Given the description of an element on the screen output the (x, y) to click on. 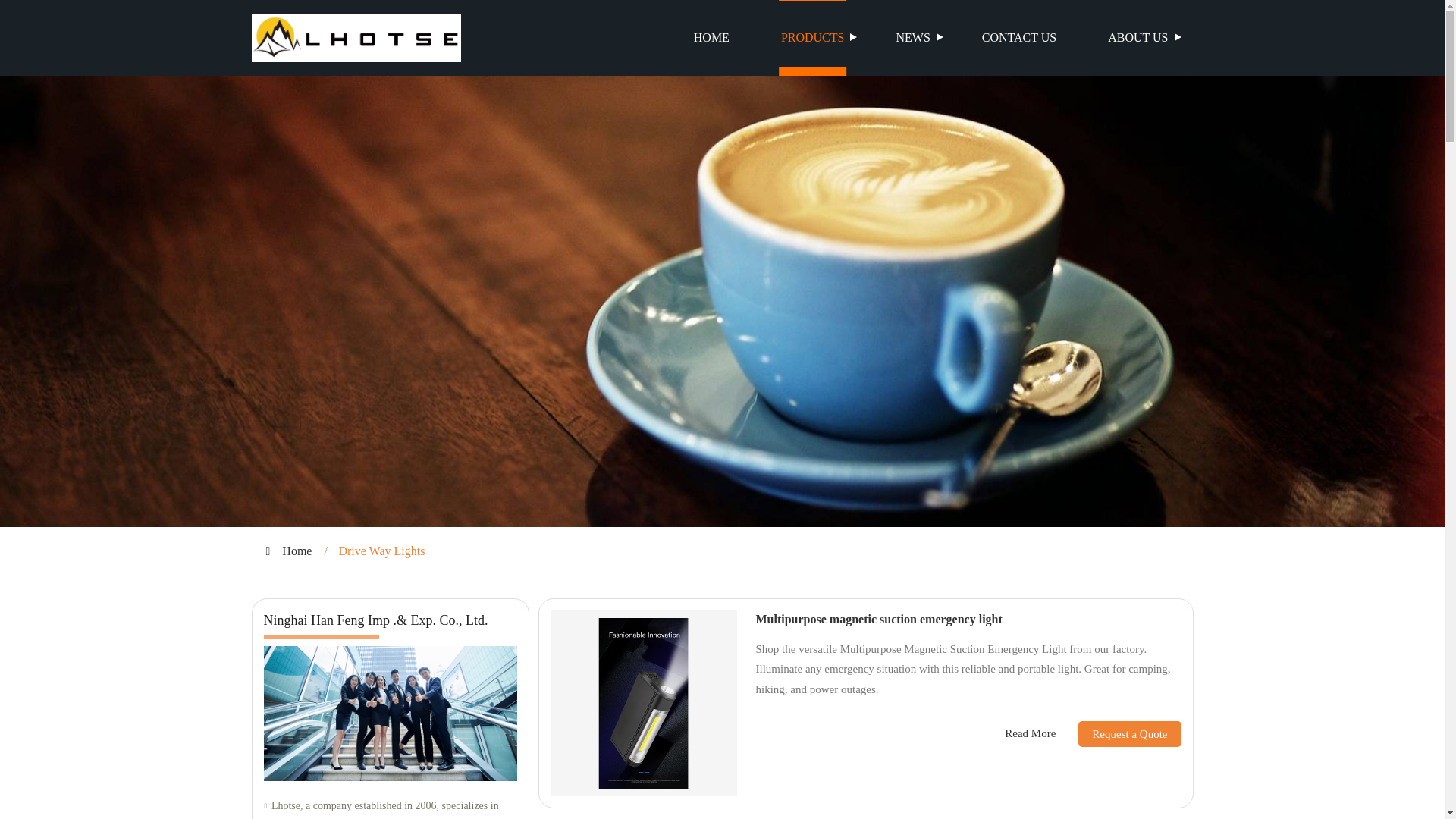
Request a Quote (1117, 733)
PRODUCTS (812, 38)
Read More (1029, 733)
CONTACT US (1018, 38)
Home (296, 550)
Multipurpose magnetic suction emergency light (878, 618)
